Given the description of an element on the screen output the (x, y) to click on. 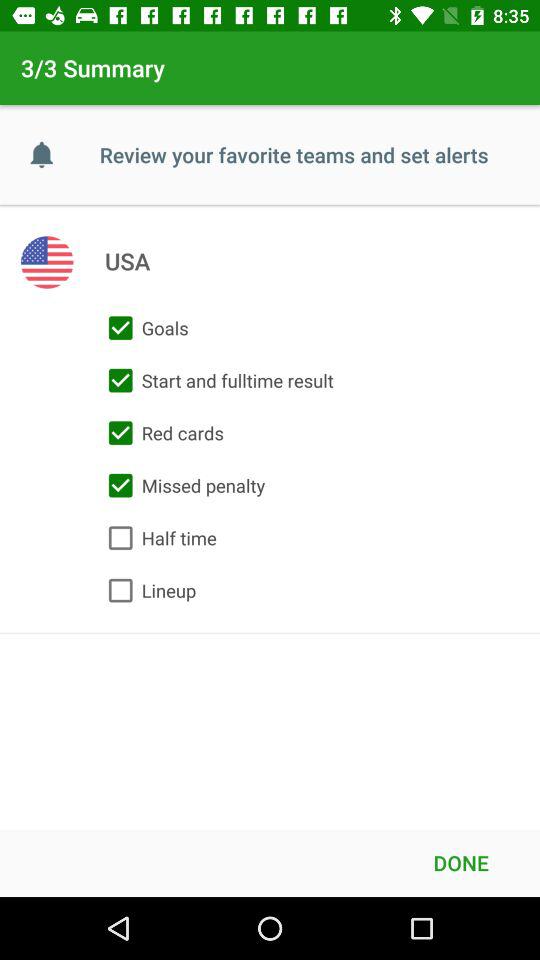
turn off the start and fulltime icon (216, 380)
